Given the description of an element on the screen output the (x, y) to click on. 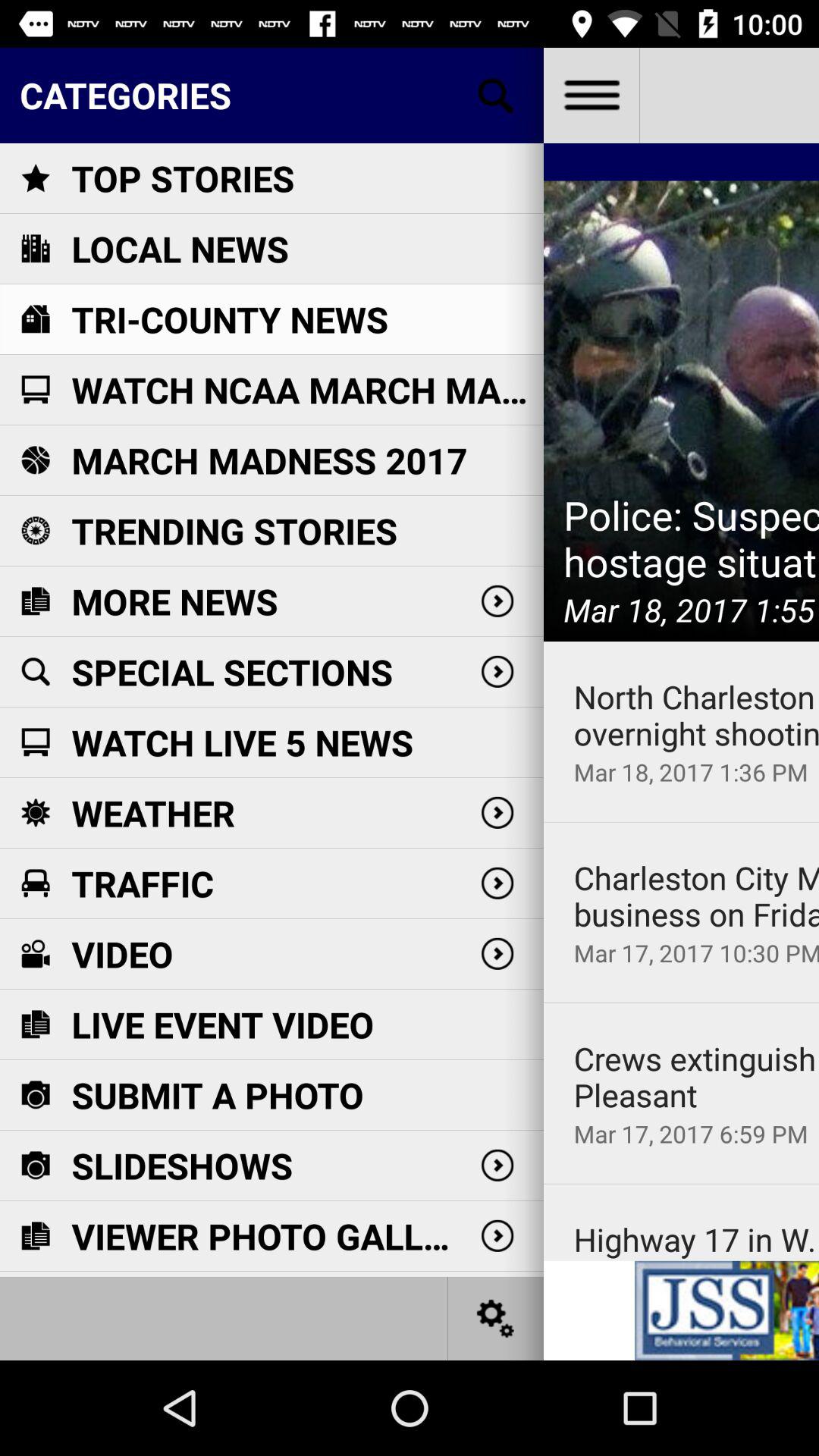
turn off traffic item (142, 883)
